Given the description of an element on the screen output the (x, y) to click on. 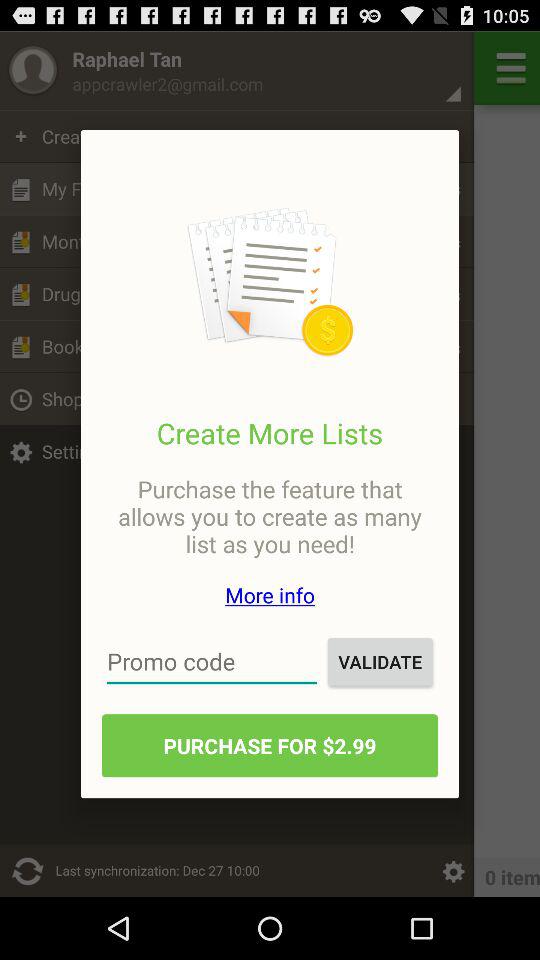
jump until the purchase for 2 (269, 745)
